Given the description of an element on the screen output the (x, y) to click on. 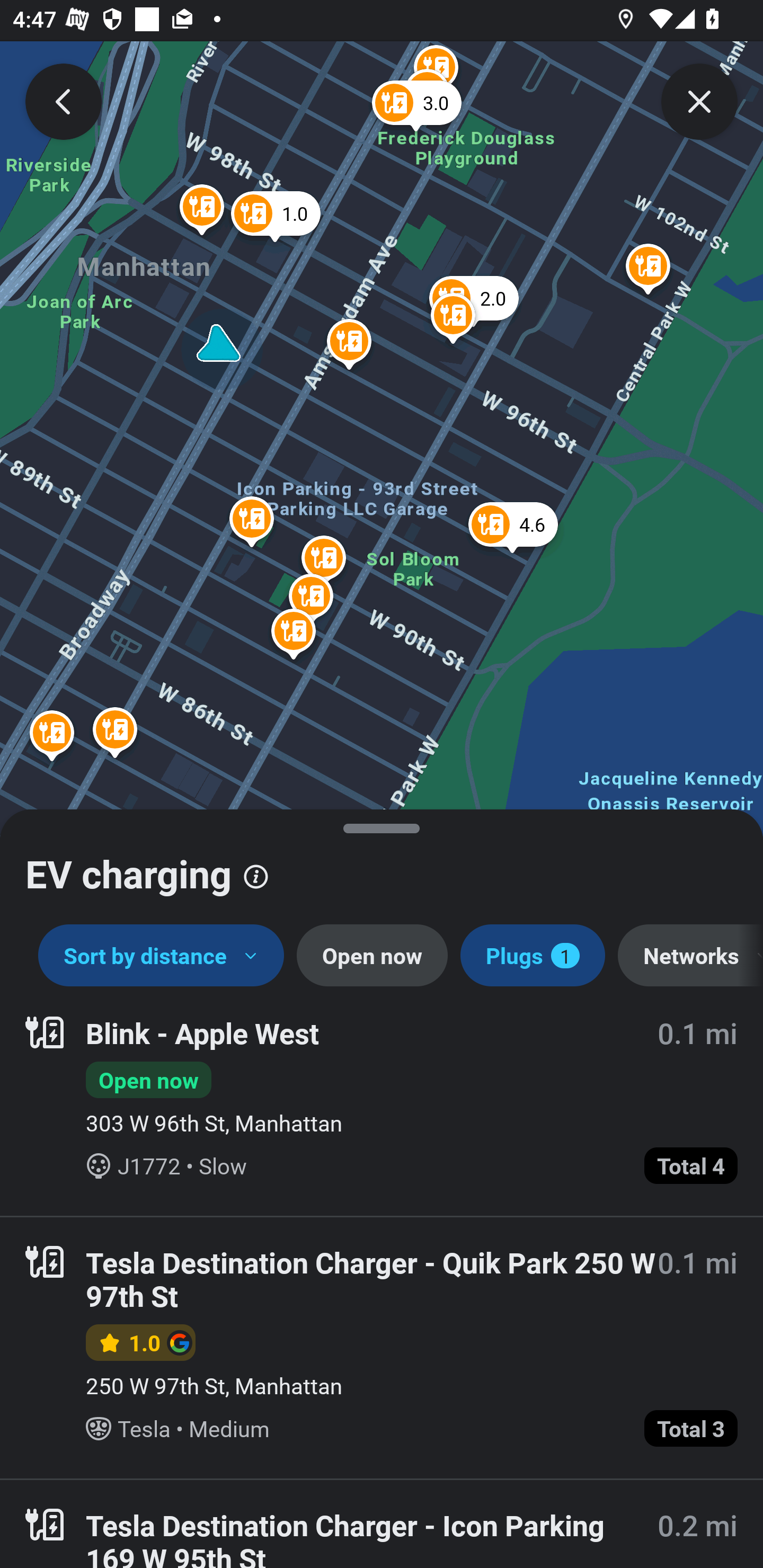
EV charging (381, 867)
Sort by distance (160, 955)
Open now (371, 955)
Plugs 1 (532, 955)
Networks (690, 955)
